Given the description of an element on the screen output the (x, y) to click on. 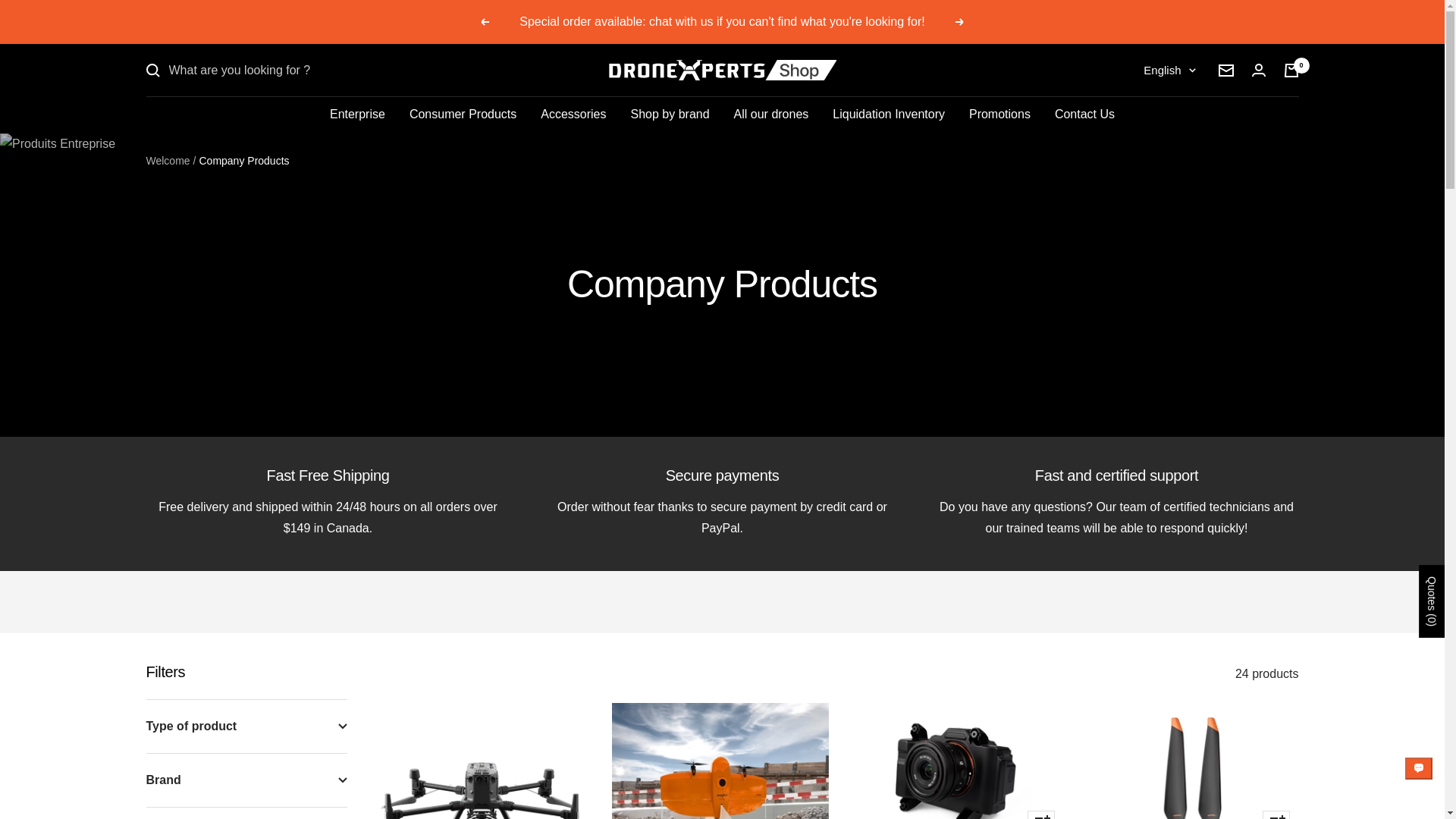
Welcome (167, 160)
Brand (245, 779)
Enterprise (357, 114)
All our drones (771, 114)
Consumer Products (462, 114)
Promotions (999, 114)
Accessories (572, 114)
Following (959, 21)
Contact Us (1084, 114)
fr (1159, 123)
